Given the description of an element on the screen output the (x, y) to click on. 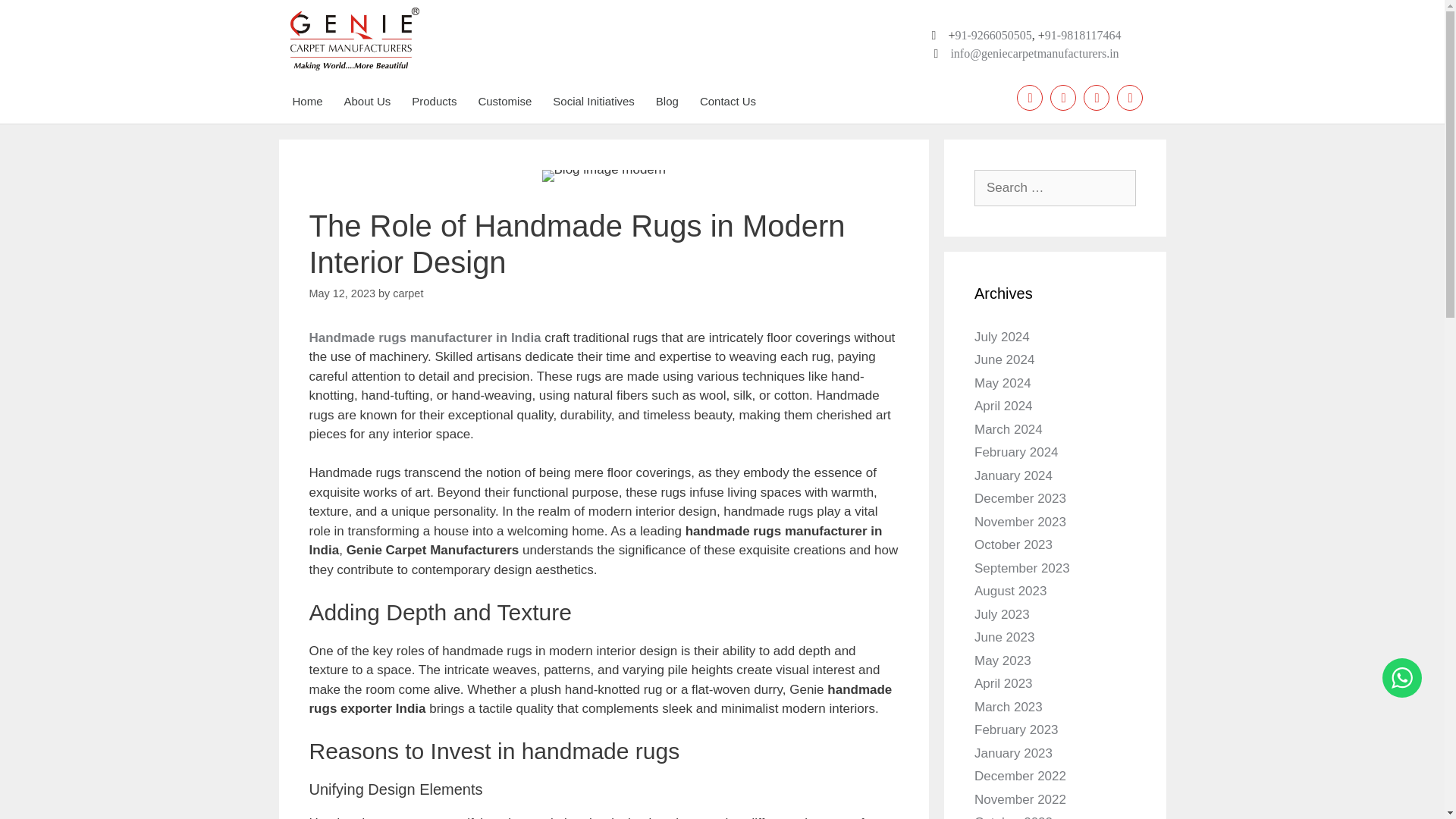
91-9266050505 (992, 34)
Genie Carpet Manufacturers Logo (354, 38)
91-9818117464 (1083, 34)
Products (432, 101)
Search for: (1054, 187)
The Role of Handmade Rugs in Modern Interior Design 1 (603, 175)
WhatsApp us (1401, 677)
Home (306, 101)
View all posts by carpet (408, 293)
About Us (366, 101)
